Given the description of an element on the screen output the (x, y) to click on. 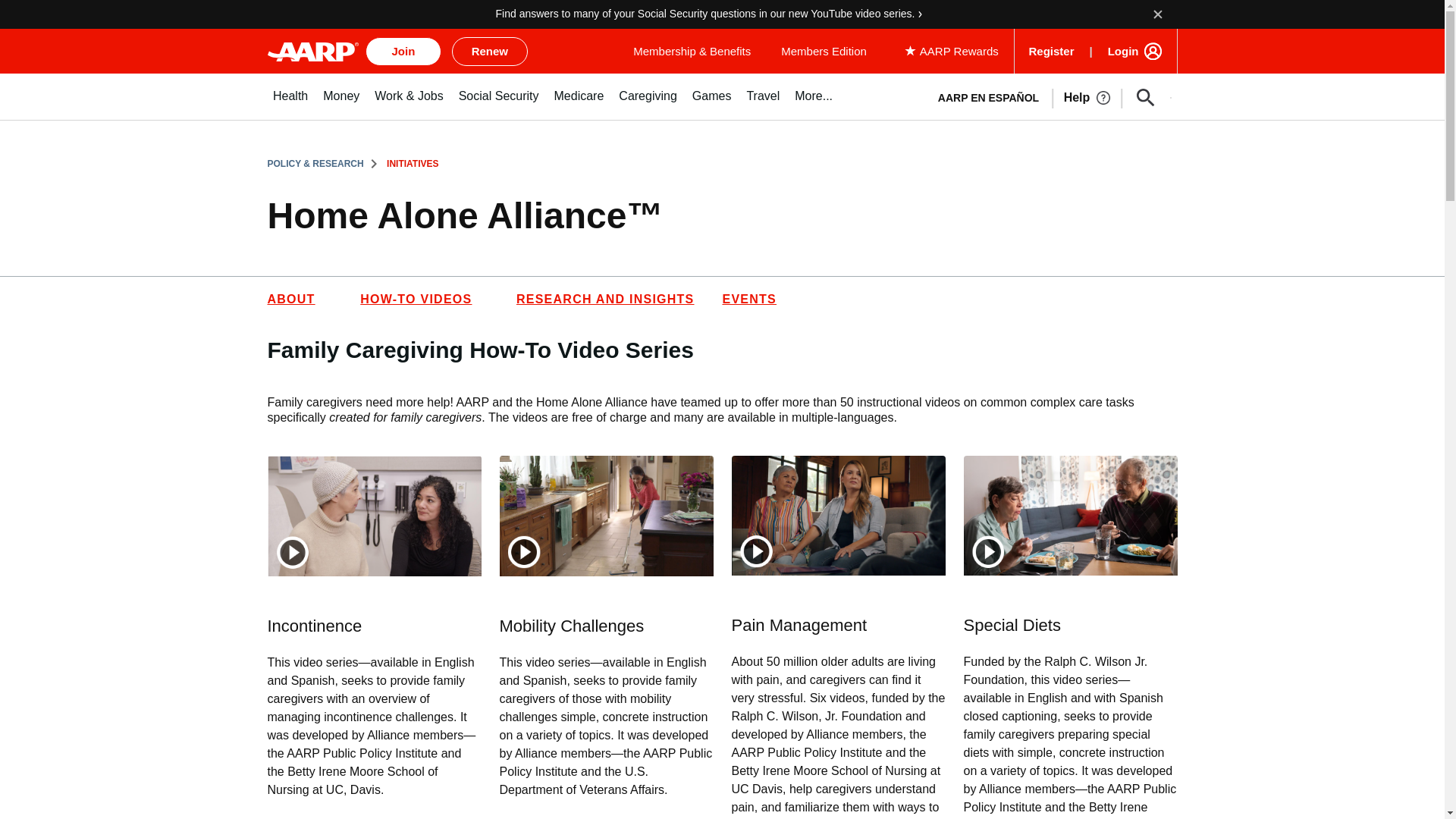
AARP Rewards (953, 50)
Members Edition (823, 50)
Link to spanish homepage (987, 97)
Register (1053, 50)
Membership and Benefits (691, 50)
Help icon (1103, 97)
Login to AARP (1134, 50)
Join (403, 51)
members edition (823, 50)
